Given the description of an element on the screen output the (x, y) to click on. 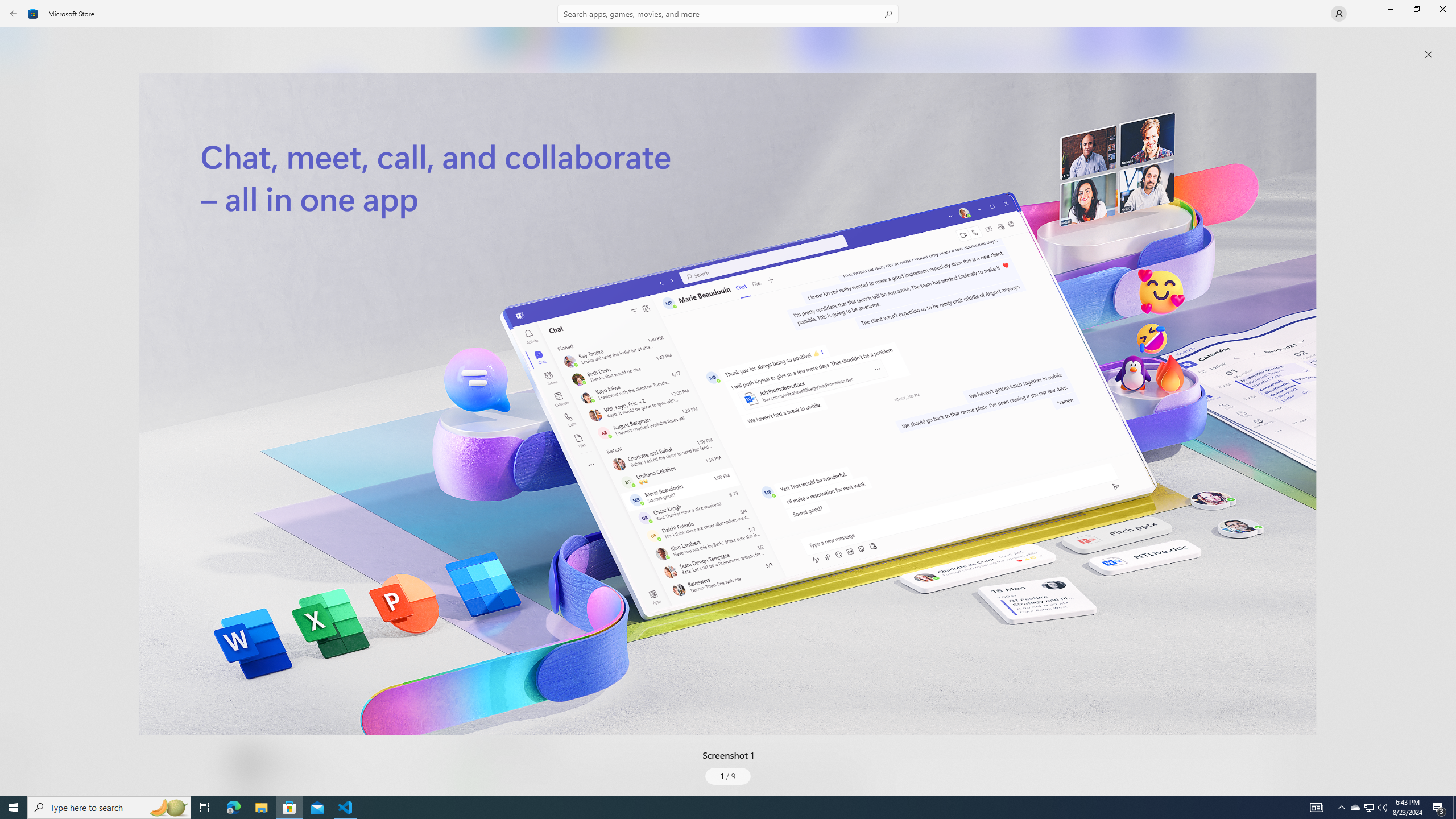
Show more (485, 793)
